Given the description of an element on the screen output the (x, y) to click on. 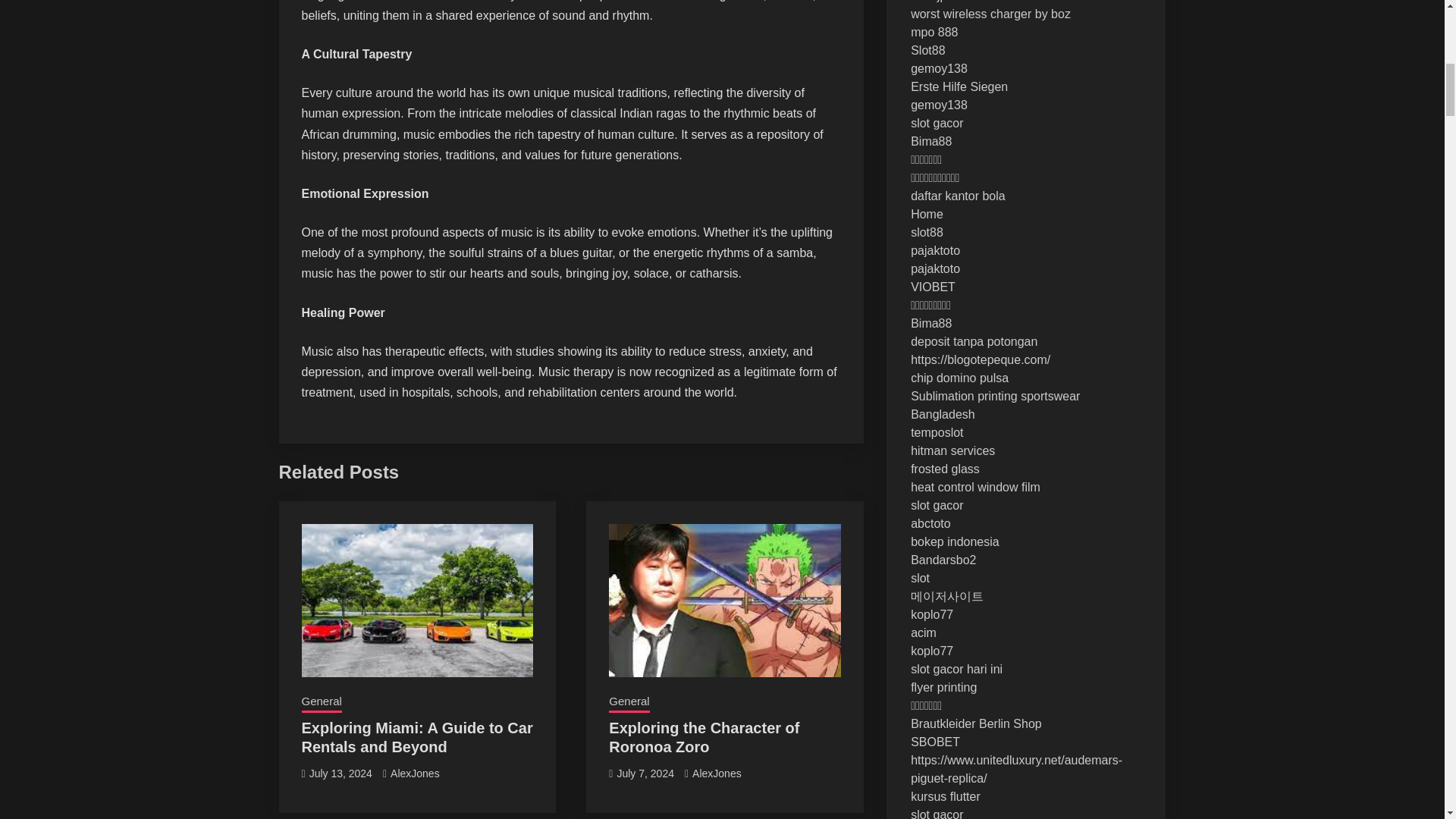
Exploring Miami: A Guide to Car Rentals and Beyond (416, 737)
Exploring the Character of Roronoa Zoro (703, 737)
General (628, 702)
July 7, 2024 (644, 773)
AlexJones (717, 773)
AlexJones (414, 773)
July 13, 2024 (340, 773)
General (321, 702)
